Given the description of an element on the screen output the (x, y) to click on. 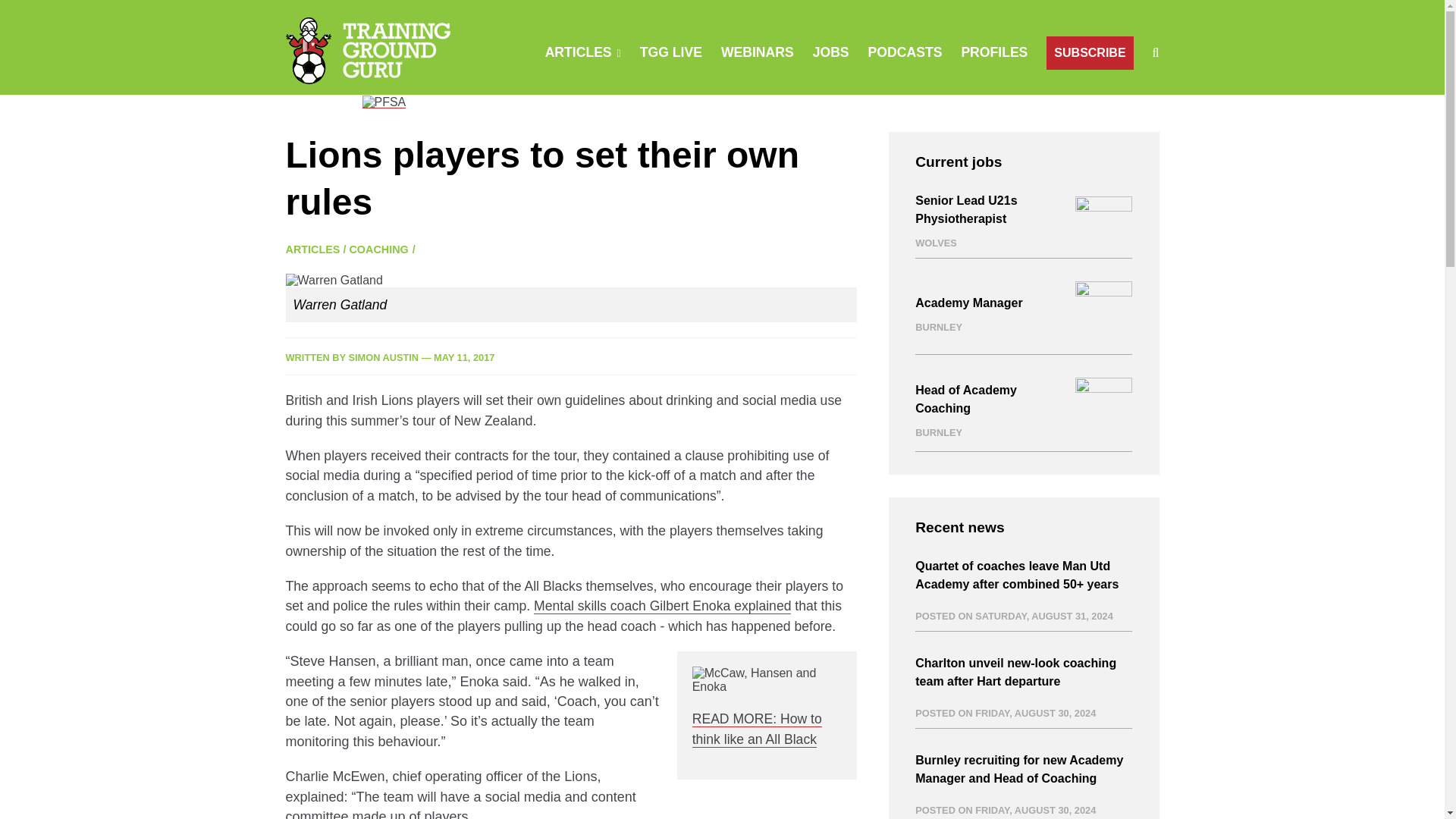
Podcasts (904, 52)
PODCASTS (904, 52)
Webinars (756, 52)
Submit a job (830, 52)
Search (950, 123)
PROFILES (993, 52)
ARTICLES (312, 249)
COACHING (378, 249)
READ MORE: How to think like an All Black (757, 728)
Mental skills coach Gilbert Enoka explained (662, 606)
